Given the description of an element on the screen output the (x, y) to click on. 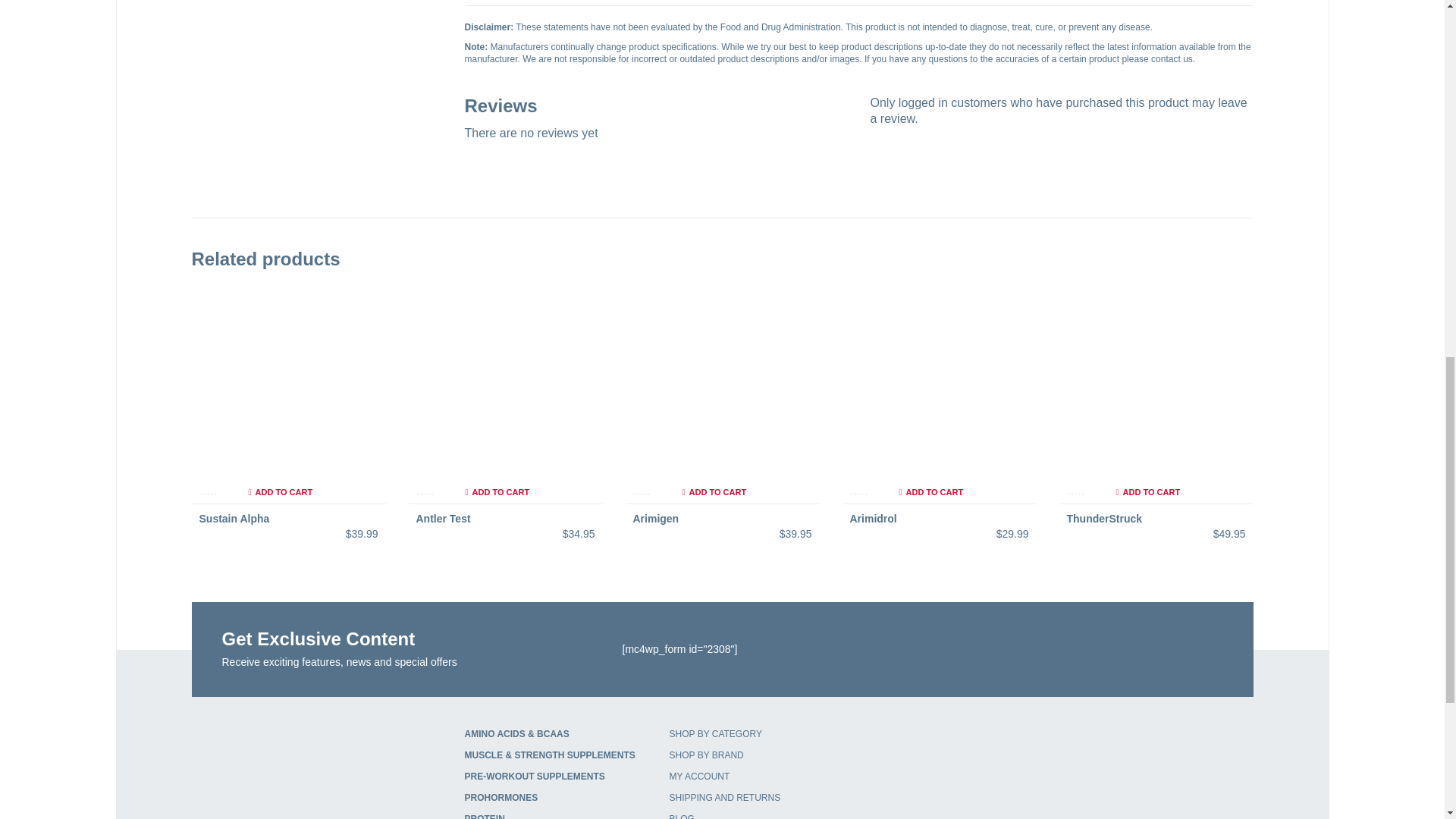
Bodybuilding Supplements (549, 755)
Pre-Workout Energy Supplements (534, 776)
The Best Prohormones for Sale (500, 797)
